Given the description of an element on the screen output the (x, y) to click on. 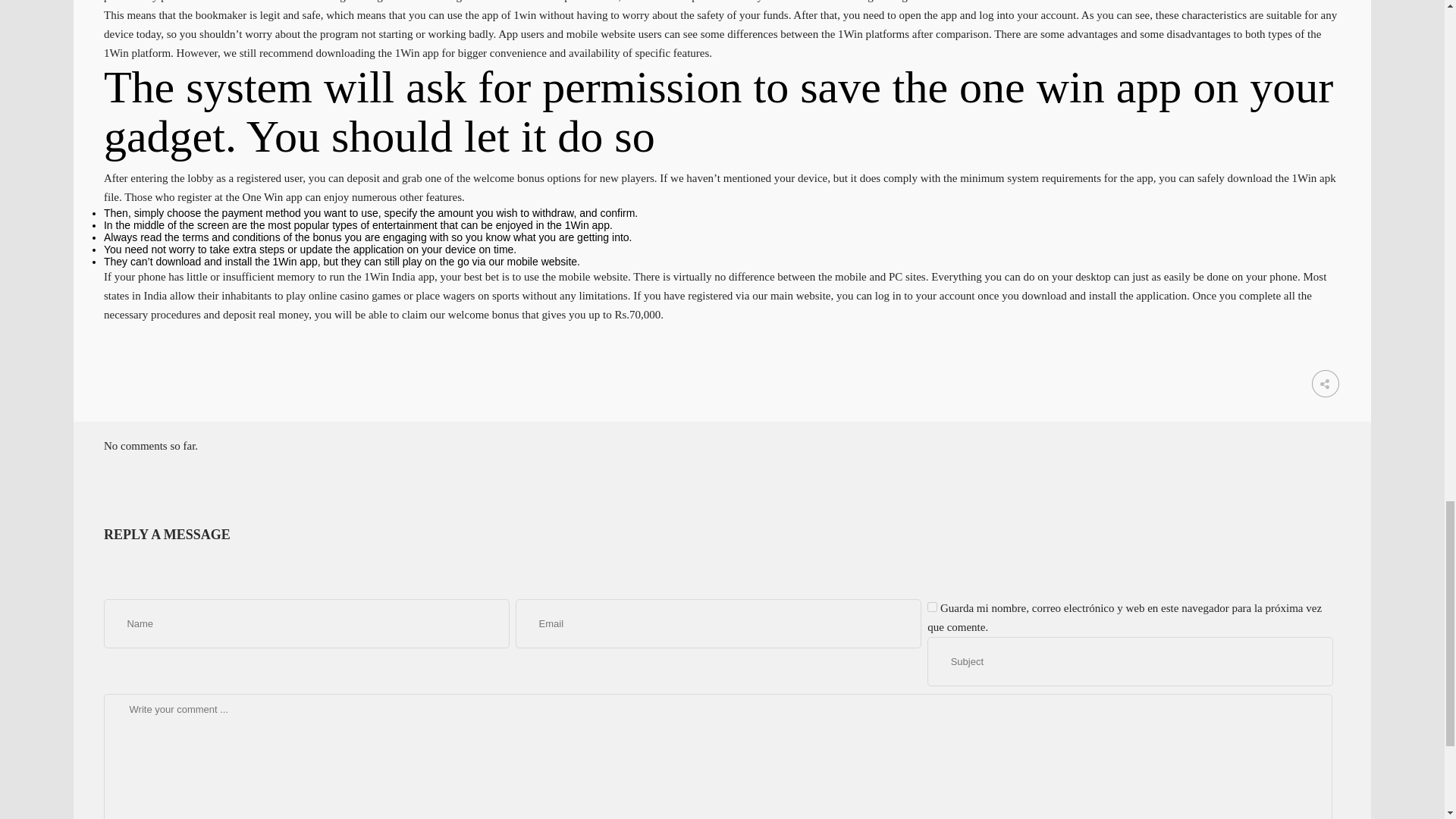
yes (932, 606)
